Given the description of an element on the screen output the (x, y) to click on. 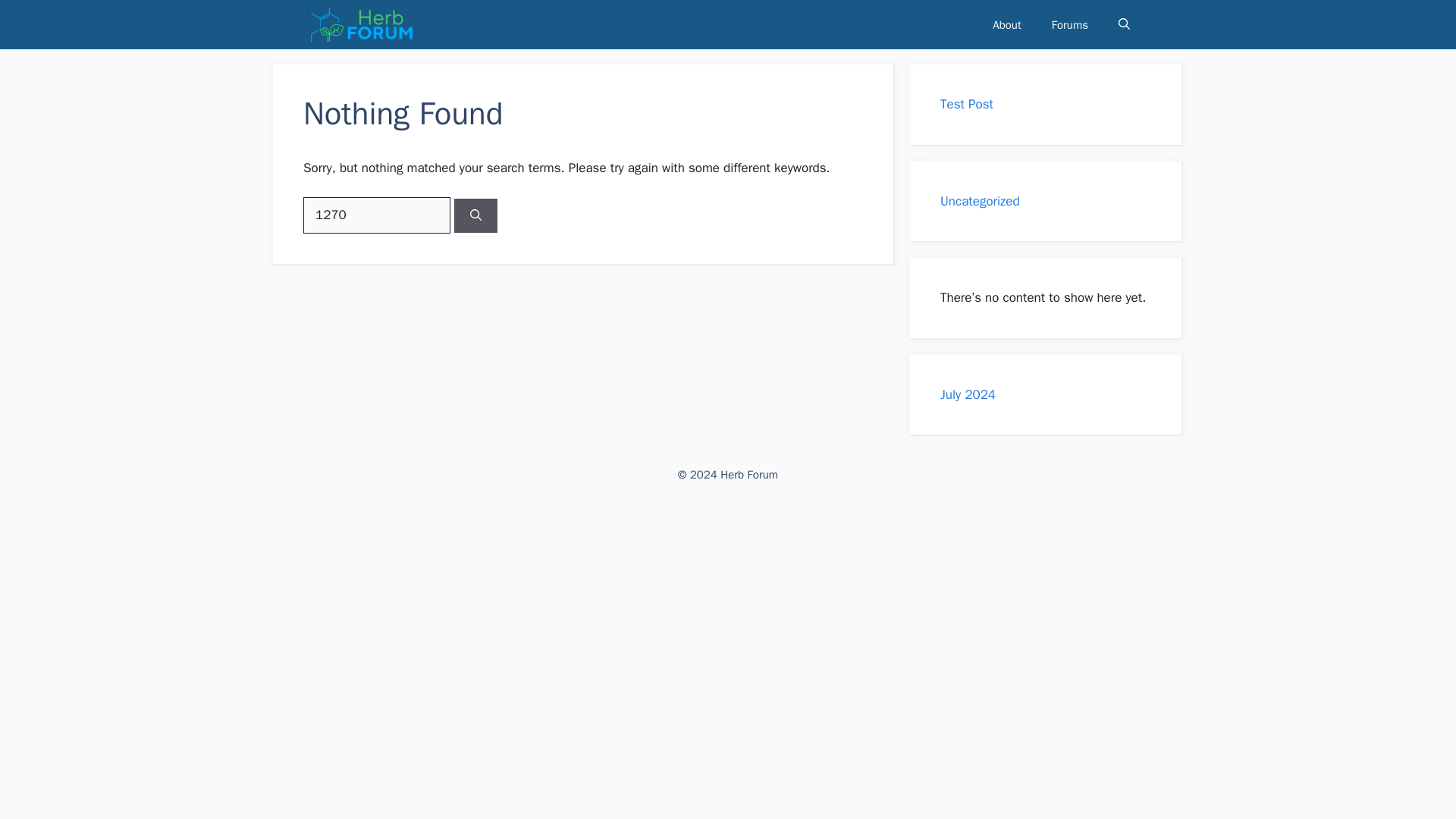
Test Post (966, 104)
Search for: (375, 215)
July 2024 (967, 394)
Forums (1069, 23)
1270 (375, 215)
1270 (375, 215)
Uncategorized (980, 200)
About (1005, 23)
Herb Forum (362, 24)
